Given the description of an element on the screen output the (x, y) to click on. 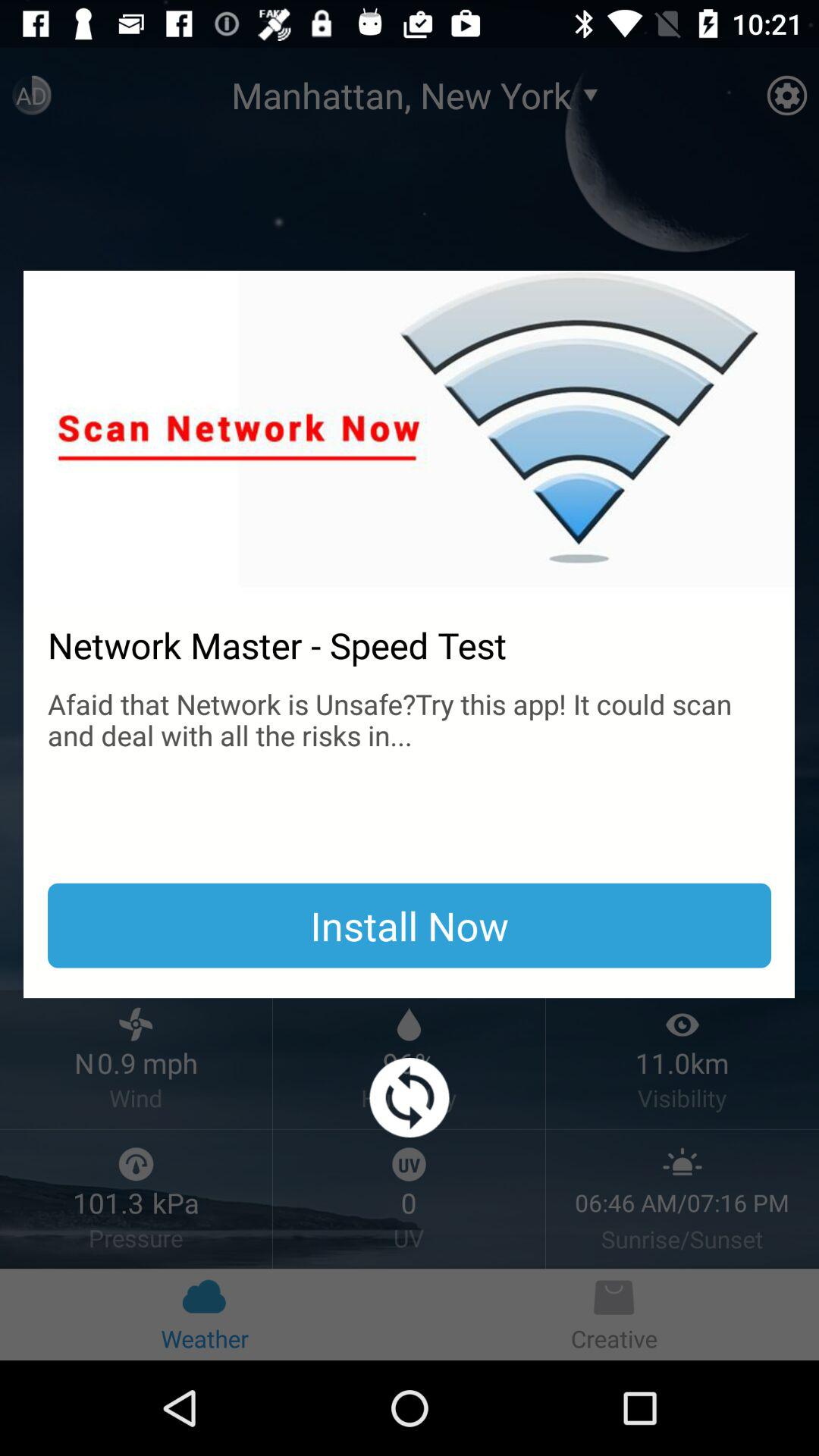
flip to install now icon (409, 925)
